Given the description of an element on the screen output the (x, y) to click on. 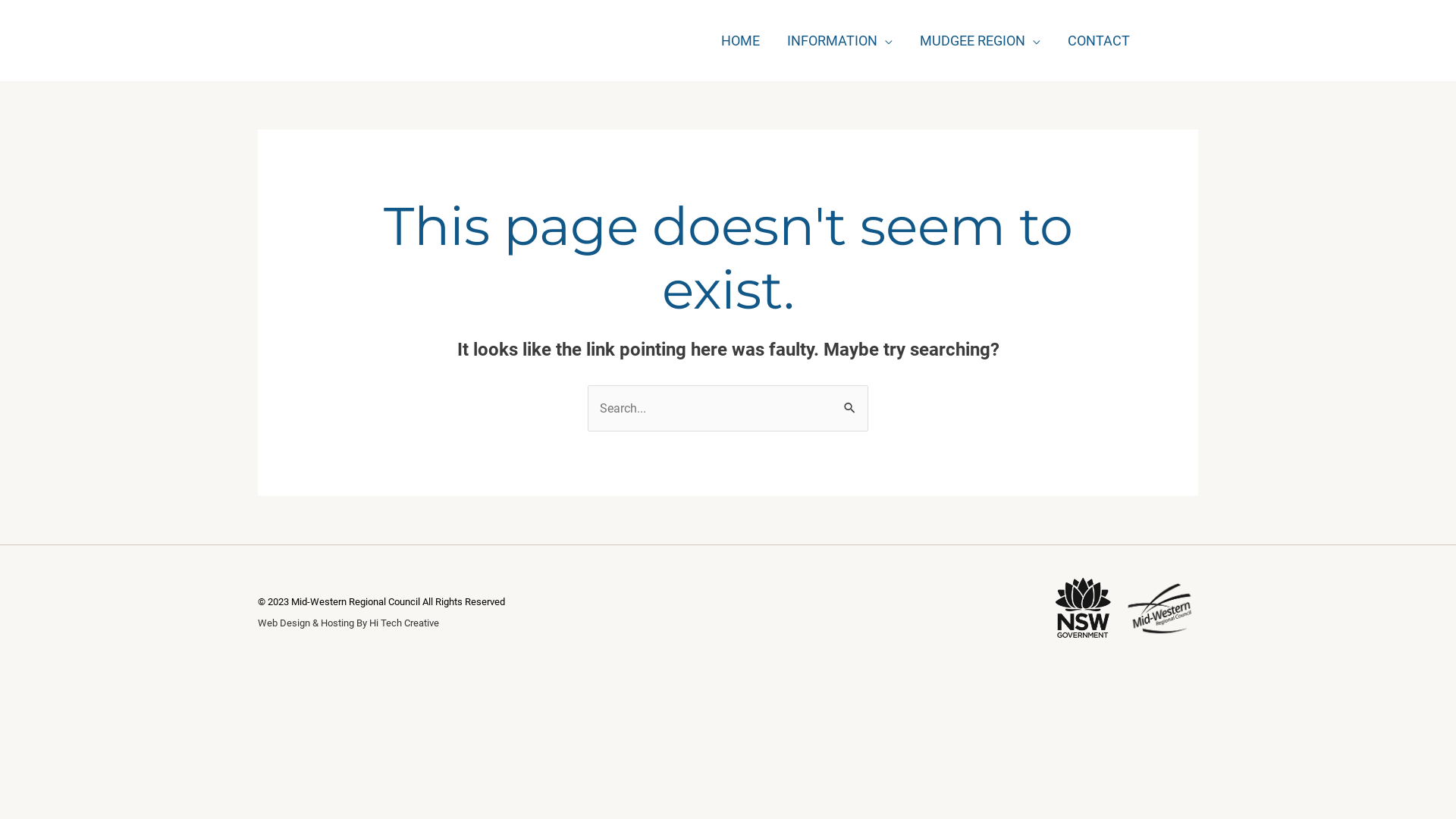
Search Element type: text (851, 400)
Hi Tech Creative Element type: text (404, 622)
MUDGEE REGION Element type: text (980, 39)
CONTACT Element type: text (1098, 39)
HOME Element type: text (740, 39)
INFORMATION Element type: text (839, 39)
